Given the description of an element on the screen output the (x, y) to click on. 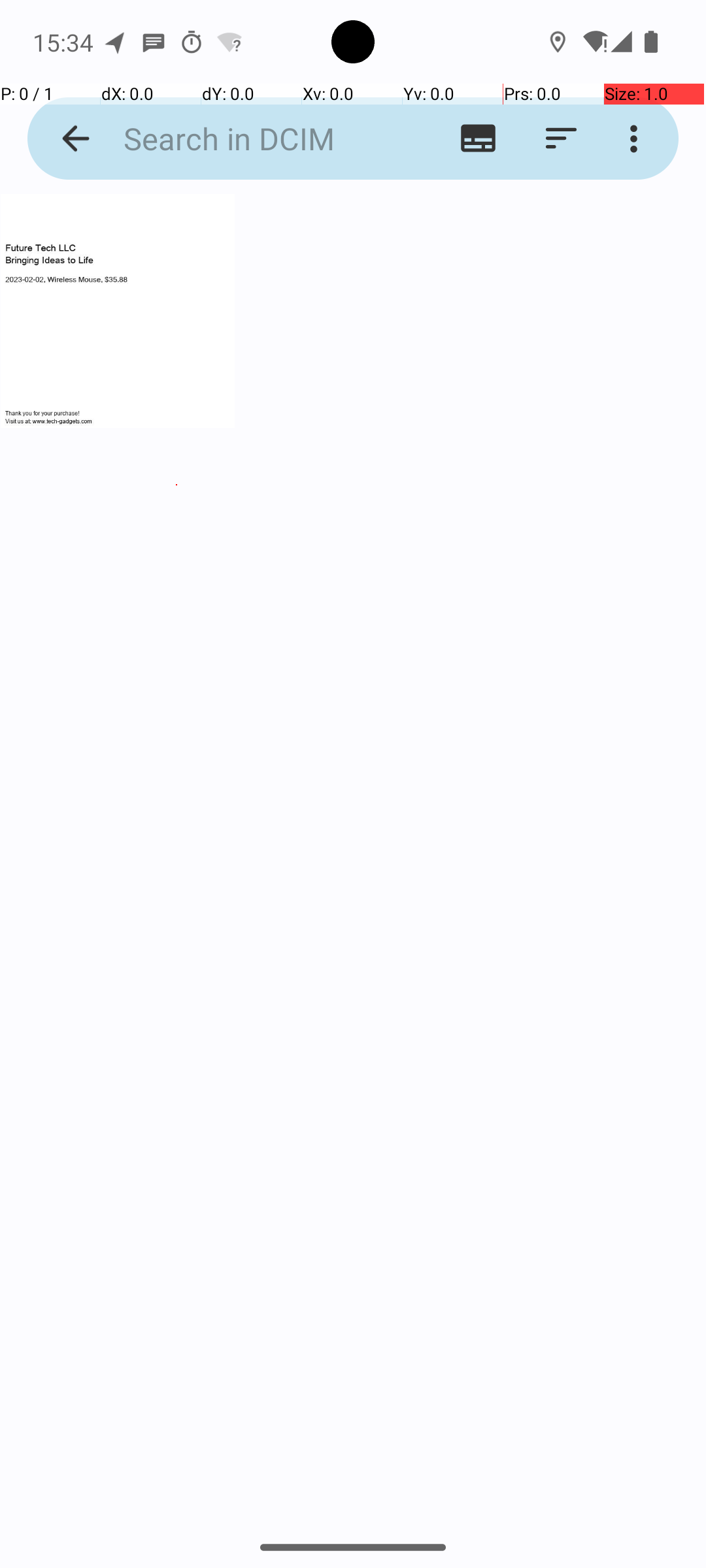
Search in DCIM Element type: android.widget.EditText (252, 138)
